Given the description of an element on the screen output the (x, y) to click on. 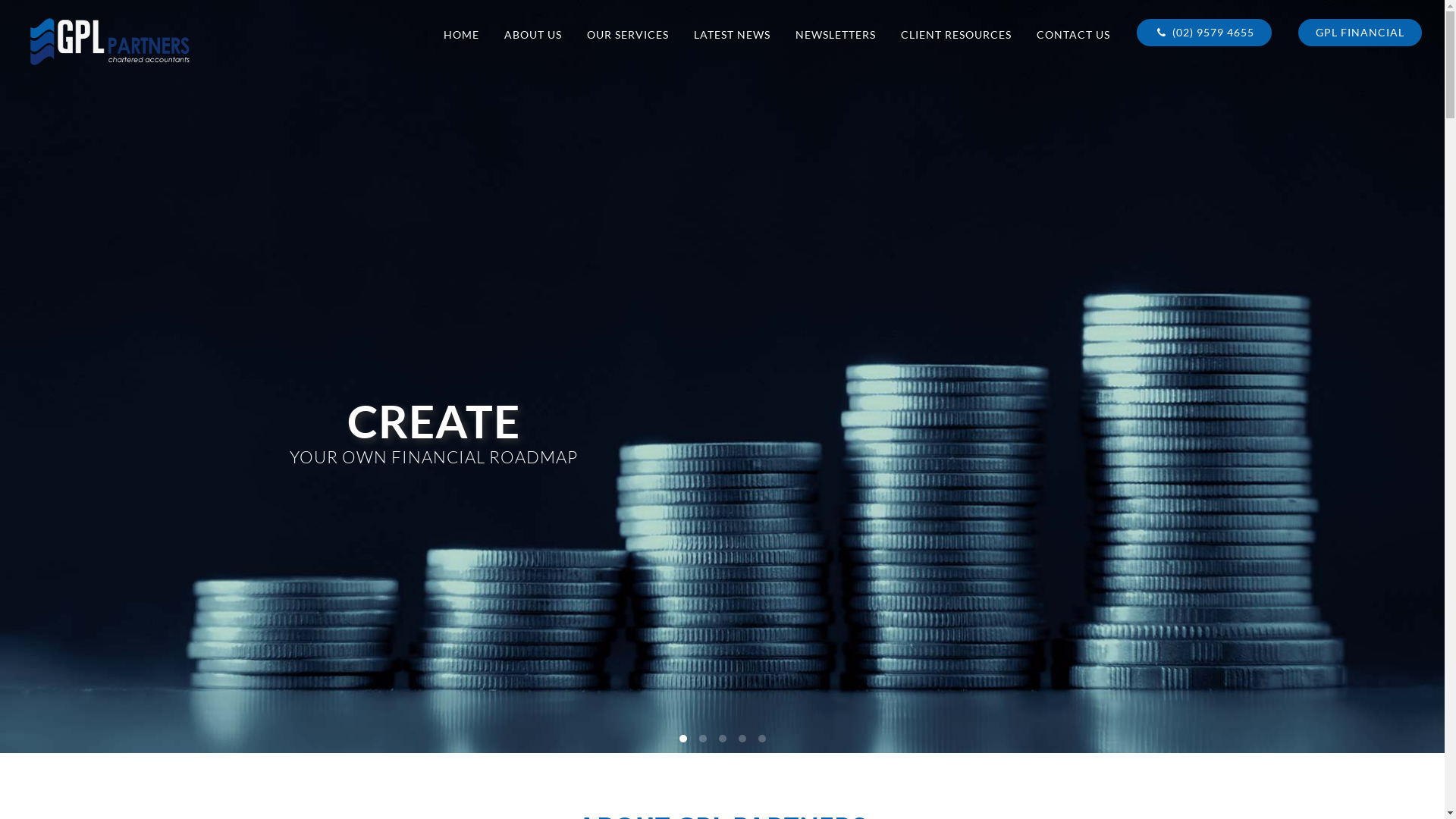
ABOUT US Element type: text (532, 34)
CONTACT US Element type: text (1073, 34)
NEWSLETTERS Element type: text (835, 34)
LATEST NEWS Element type: text (731, 34)
GPL FINANCIAL Element type: text (1359, 32)
HOME Element type: text (461, 34)
(02) 9579 4655 Element type: text (1203, 32)
OUR SERVICES Element type: text (627, 34)
CLIENT RESOURCES Element type: text (955, 34)
